Given the description of an element on the screen output the (x, y) to click on. 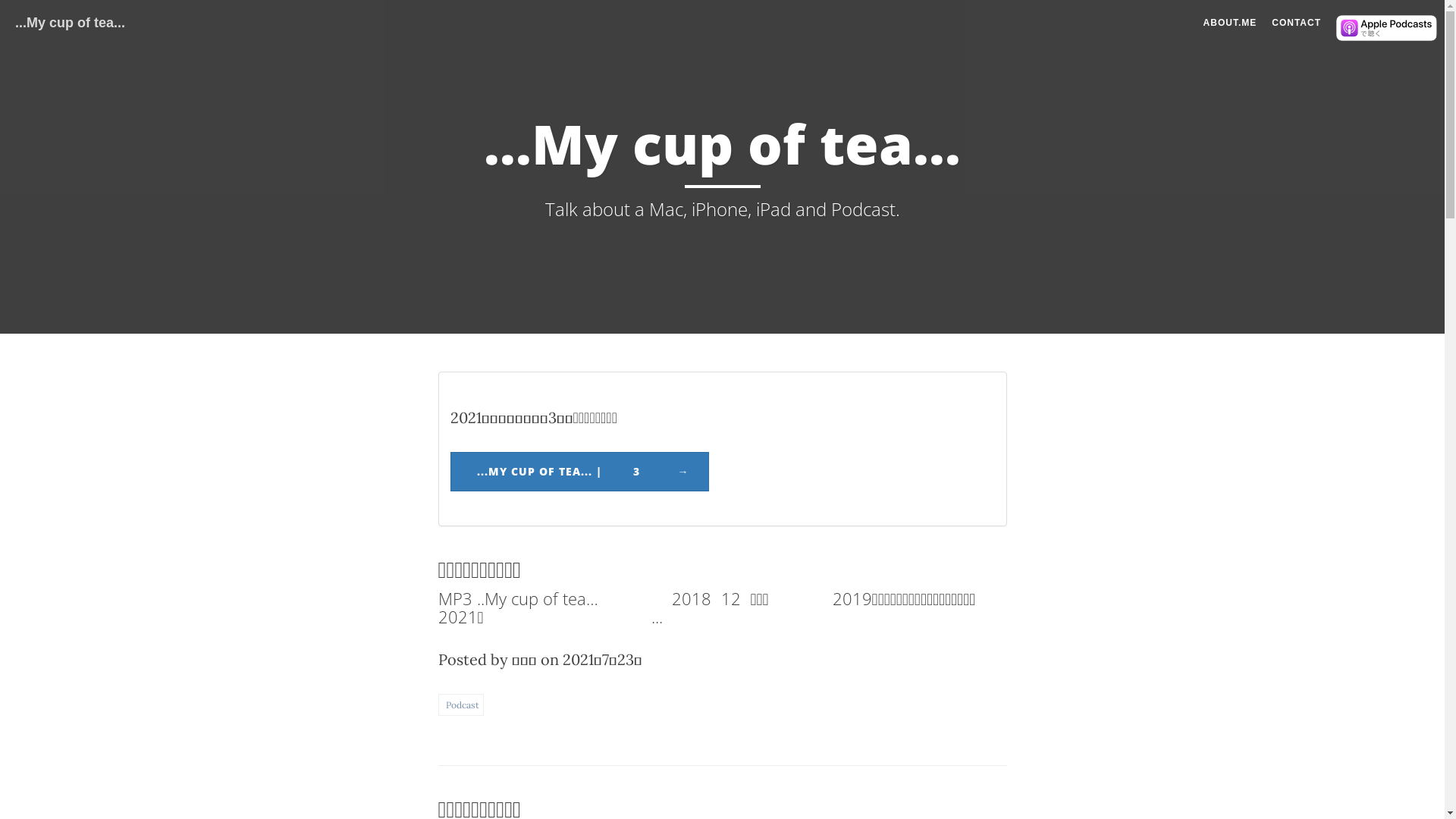
Podcast Element type: text (462, 704)
CONTACT Element type: text (1296, 22)
ABOUT.ME Element type: text (1229, 22)
...My cup of tea... Element type: text (70, 18)
